Given the description of an element on the screen output the (x, y) to click on. 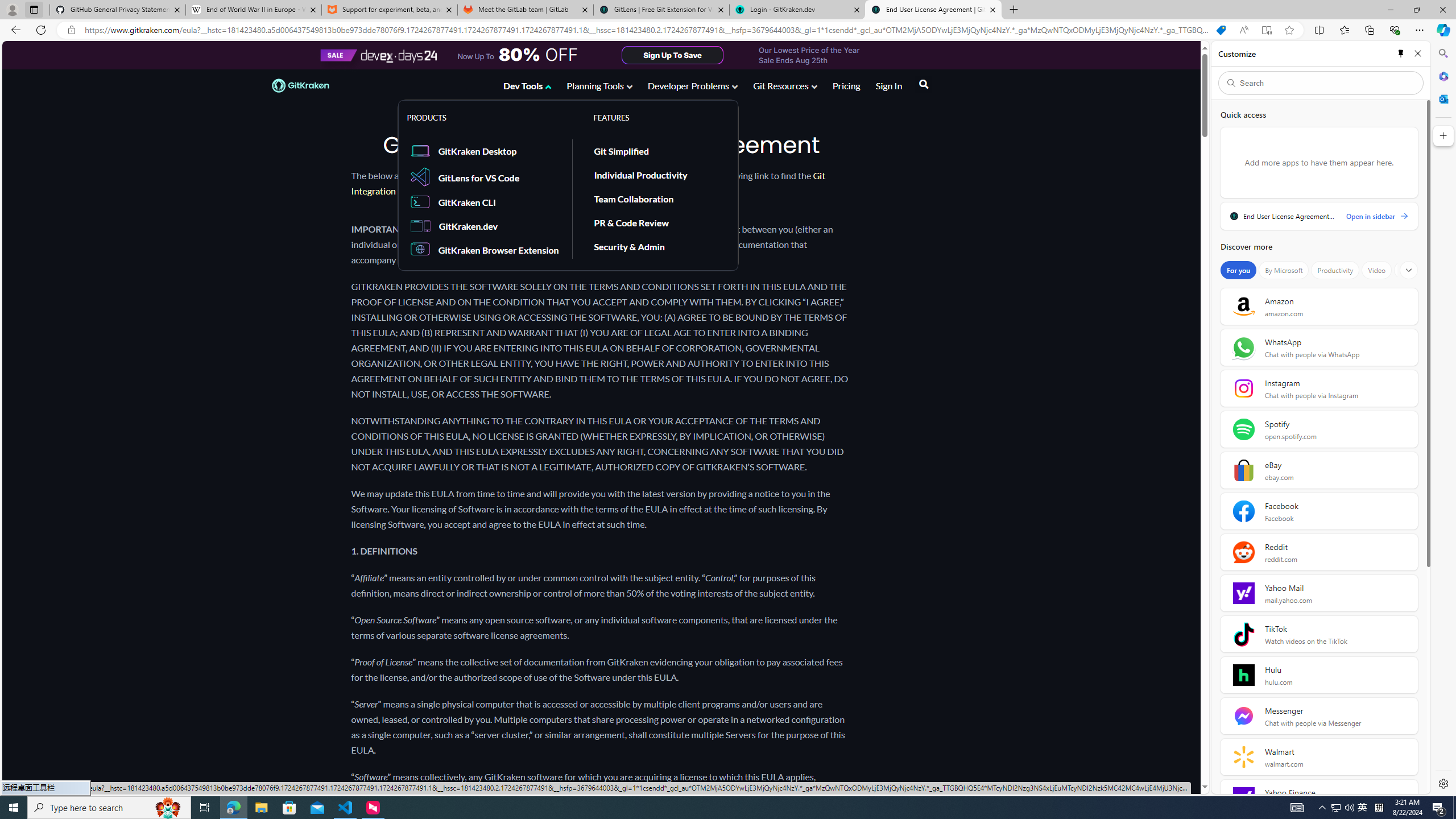
Login - GitKraken.dev (797, 9)
PR & Code Review (631, 222)
PR & Code Review (656, 222)
